Given the description of an element on the screen output the (x, y) to click on. 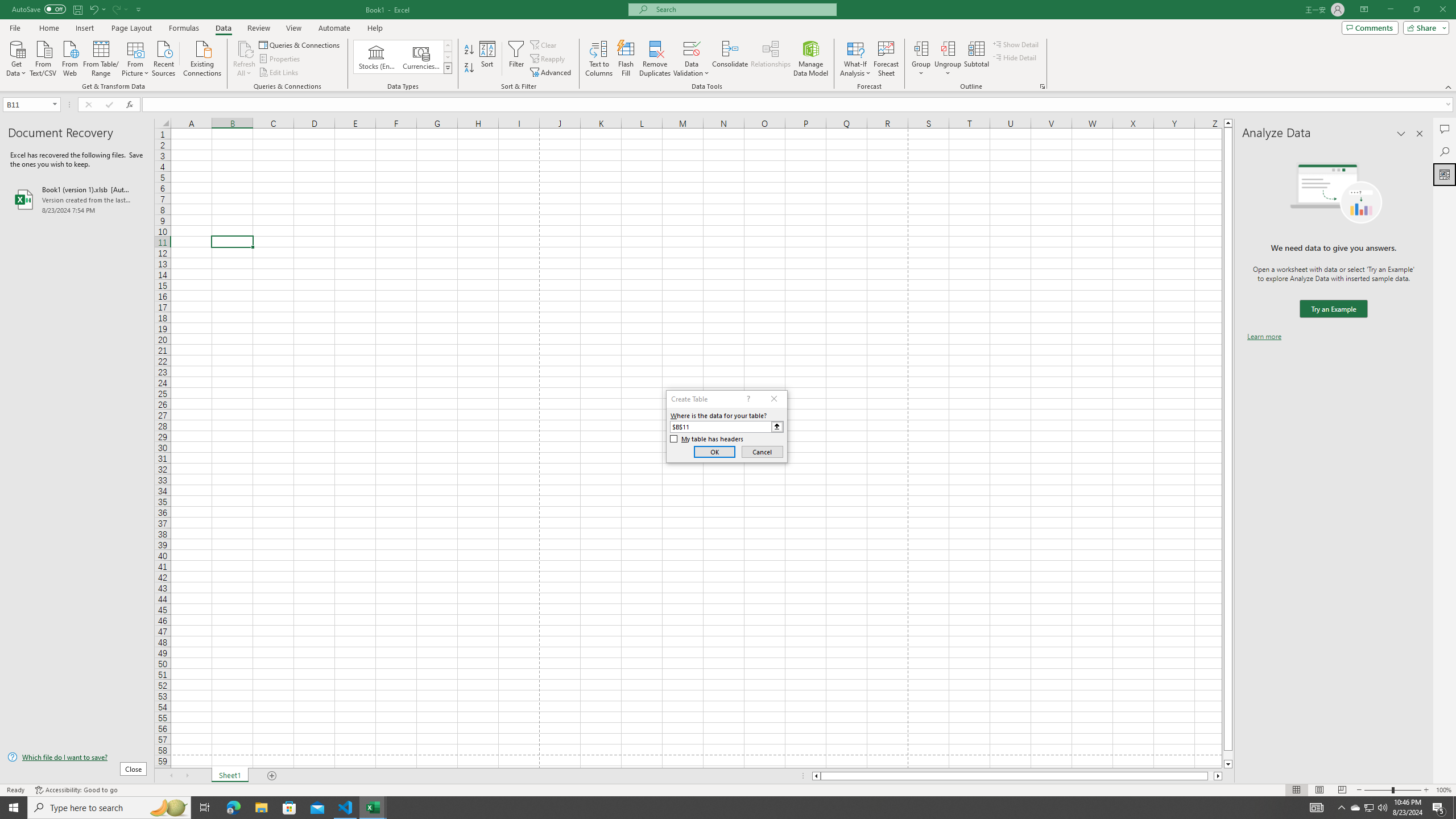
Share (1423, 27)
Clear (544, 44)
AutoSave (38, 9)
Task Pane Options (1400, 133)
Class: MsoCommandBar (728, 45)
More Options (947, 68)
Save (77, 9)
Advanced... (551, 72)
Row up (448, 45)
Currencies (English) (420, 56)
Sort A to Z (469, 49)
Refresh All (244, 48)
Open (54, 104)
Forecast Sheet (885, 58)
